Given the description of an element on the screen output the (x, y) to click on. 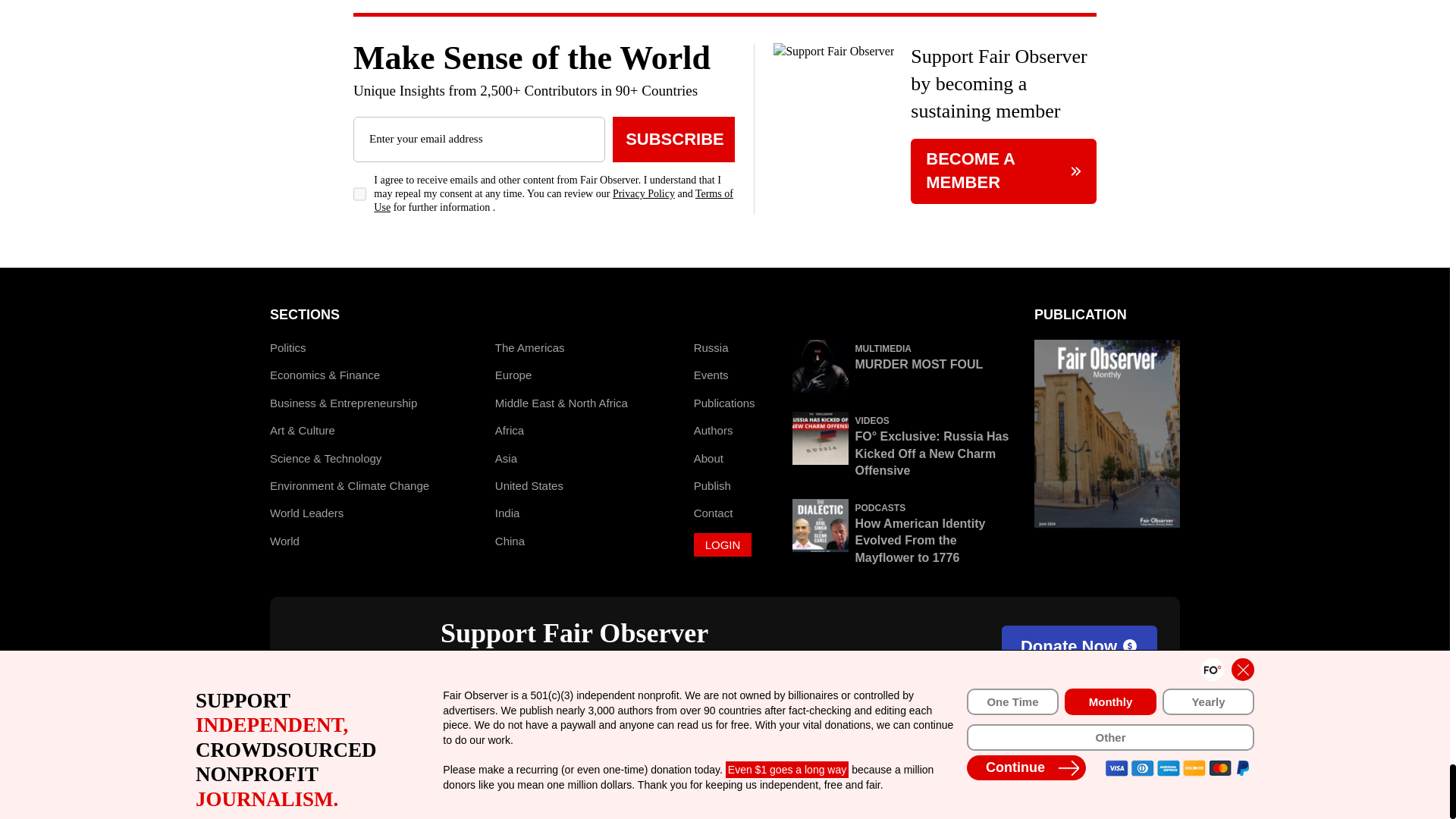
SUBSCRIBE (673, 139)
